Given the description of an element on the screen output the (x, y) to click on. 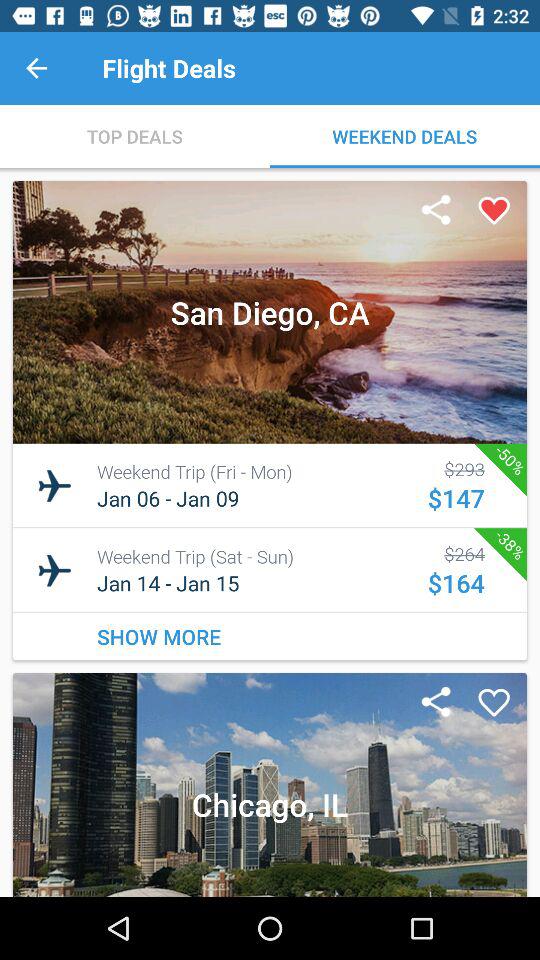
click the icon next to the flight deals item (36, 68)
